Given the description of an element on the screen output the (x, y) to click on. 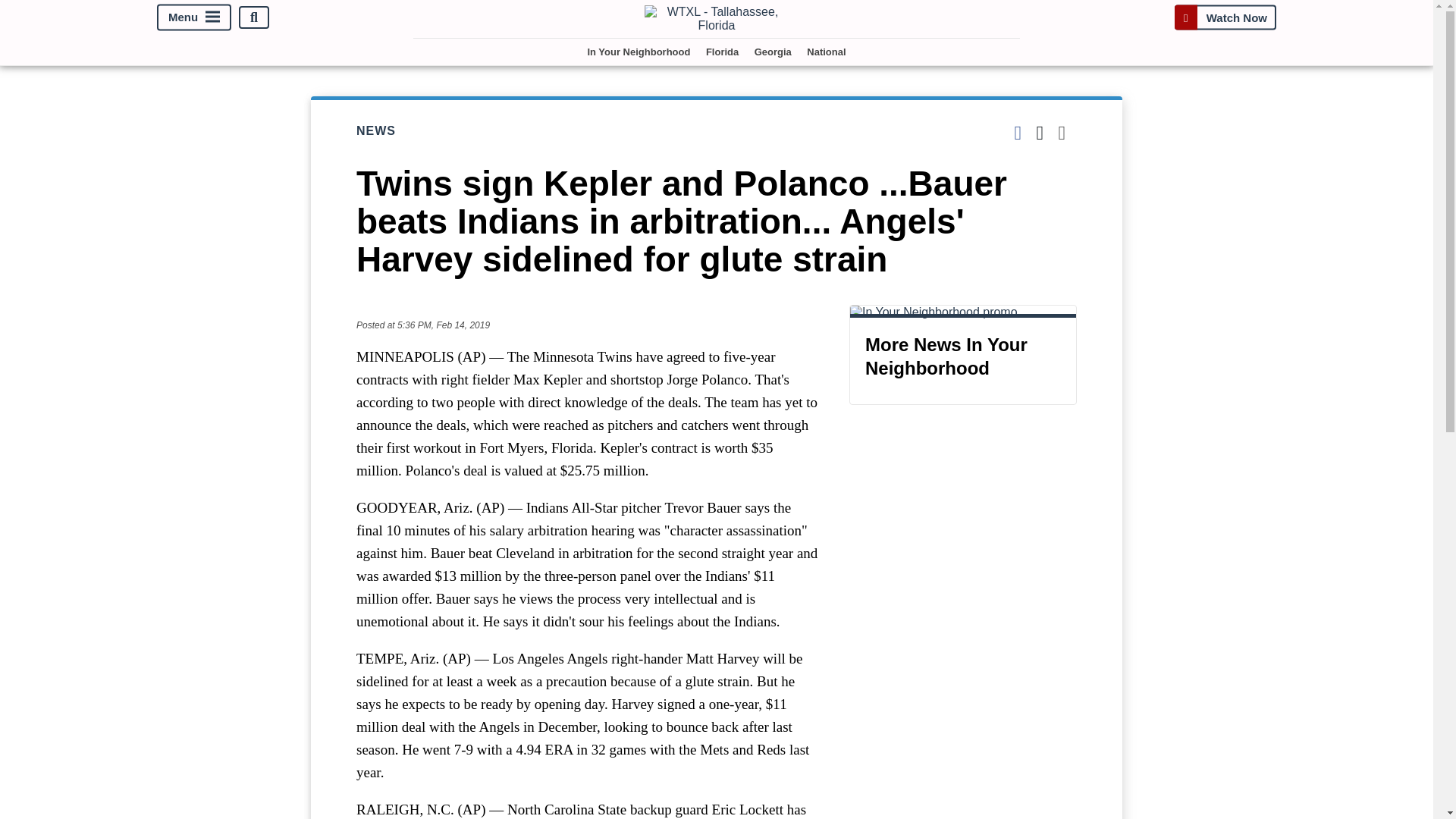
Watch Now (1224, 16)
Menu (194, 17)
